Given the description of an element on the screen output the (x, y) to click on. 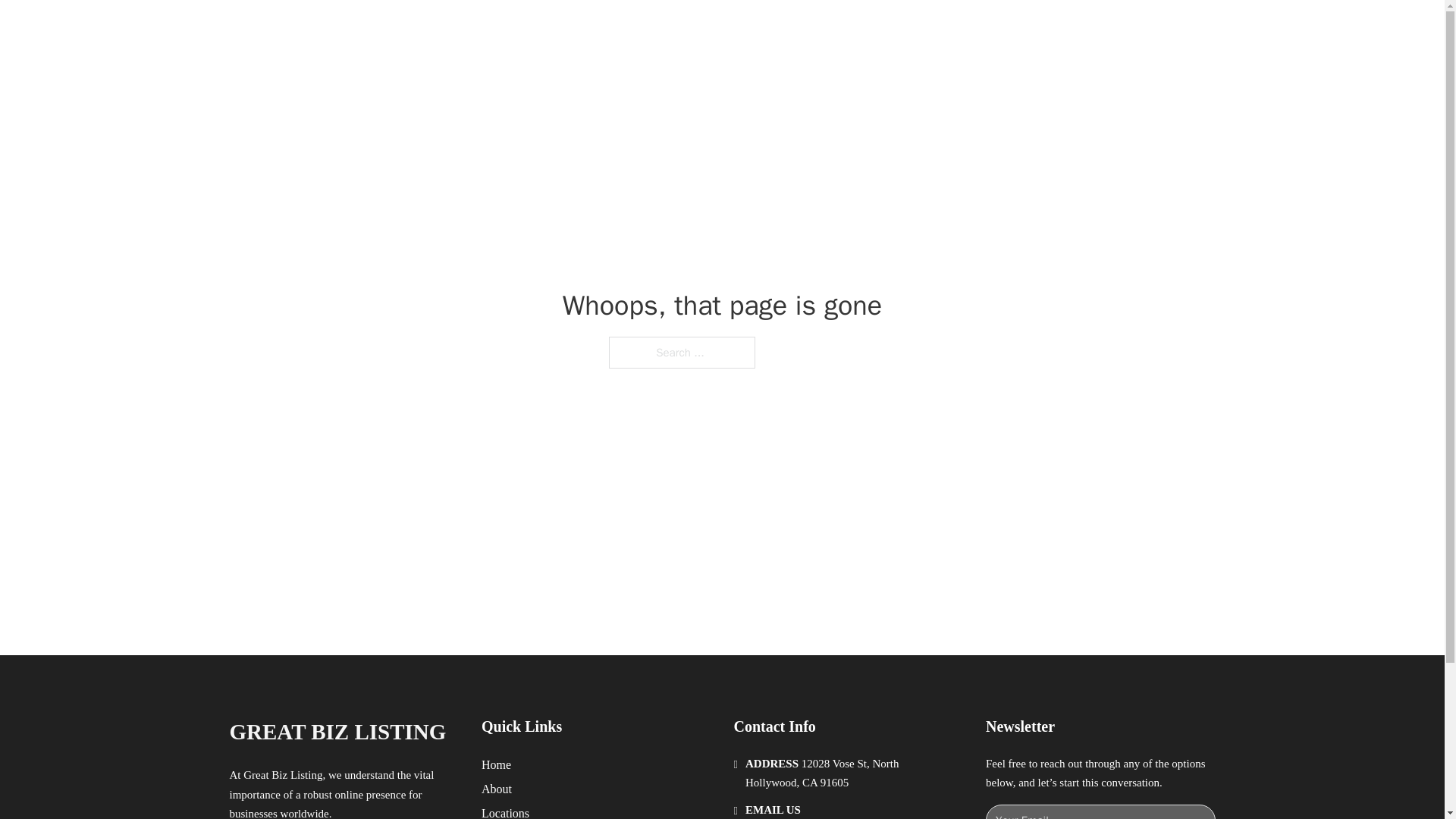
About (496, 788)
GREAT BIZ LISTING (406, 28)
Locations (505, 811)
Home (496, 764)
GREAT BIZ LISTING (336, 732)
